Given the description of an element on the screen output the (x, y) to click on. 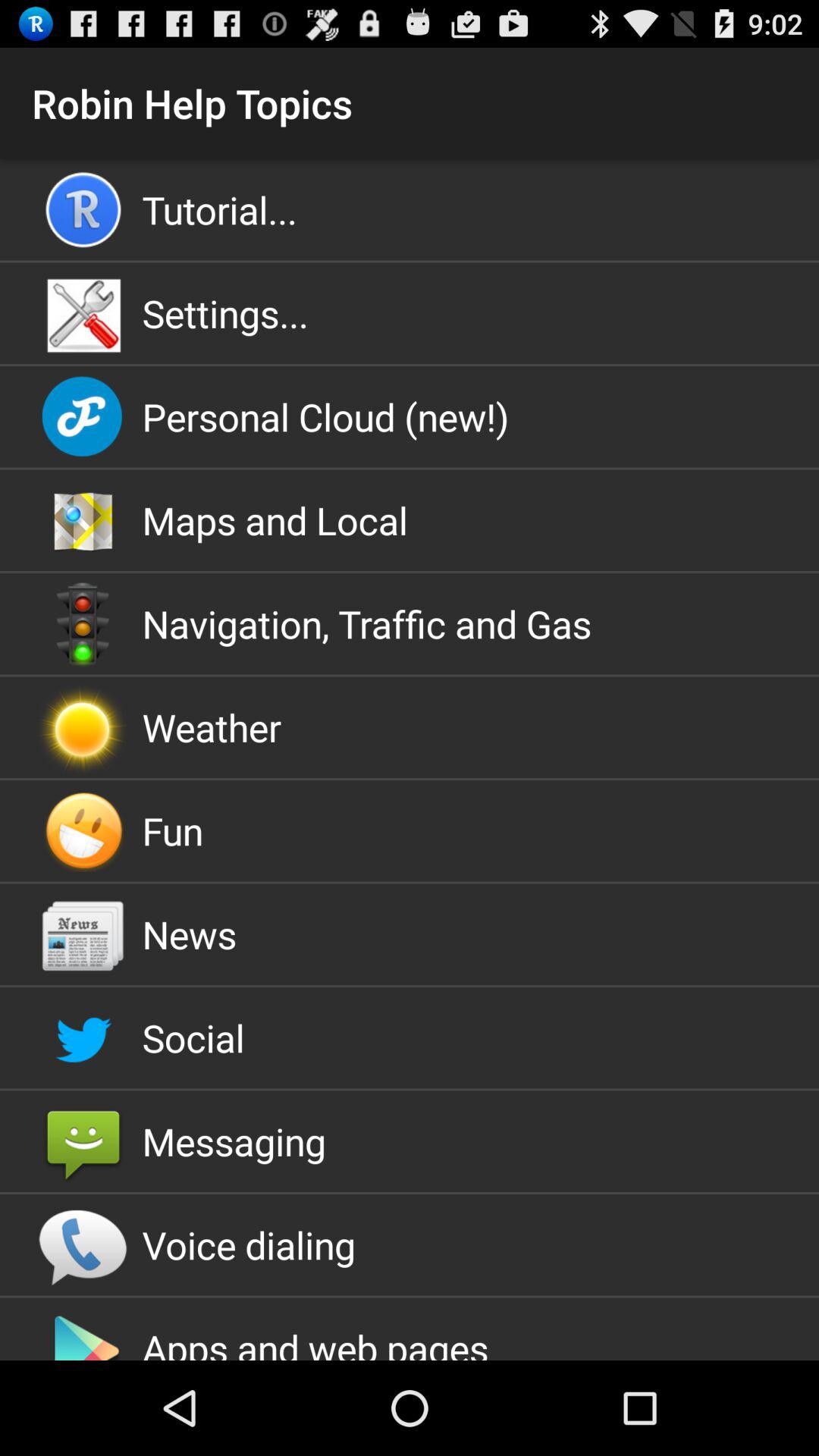
click app above the  fun app (409, 727)
